Given the description of an element on the screen output the (x, y) to click on. 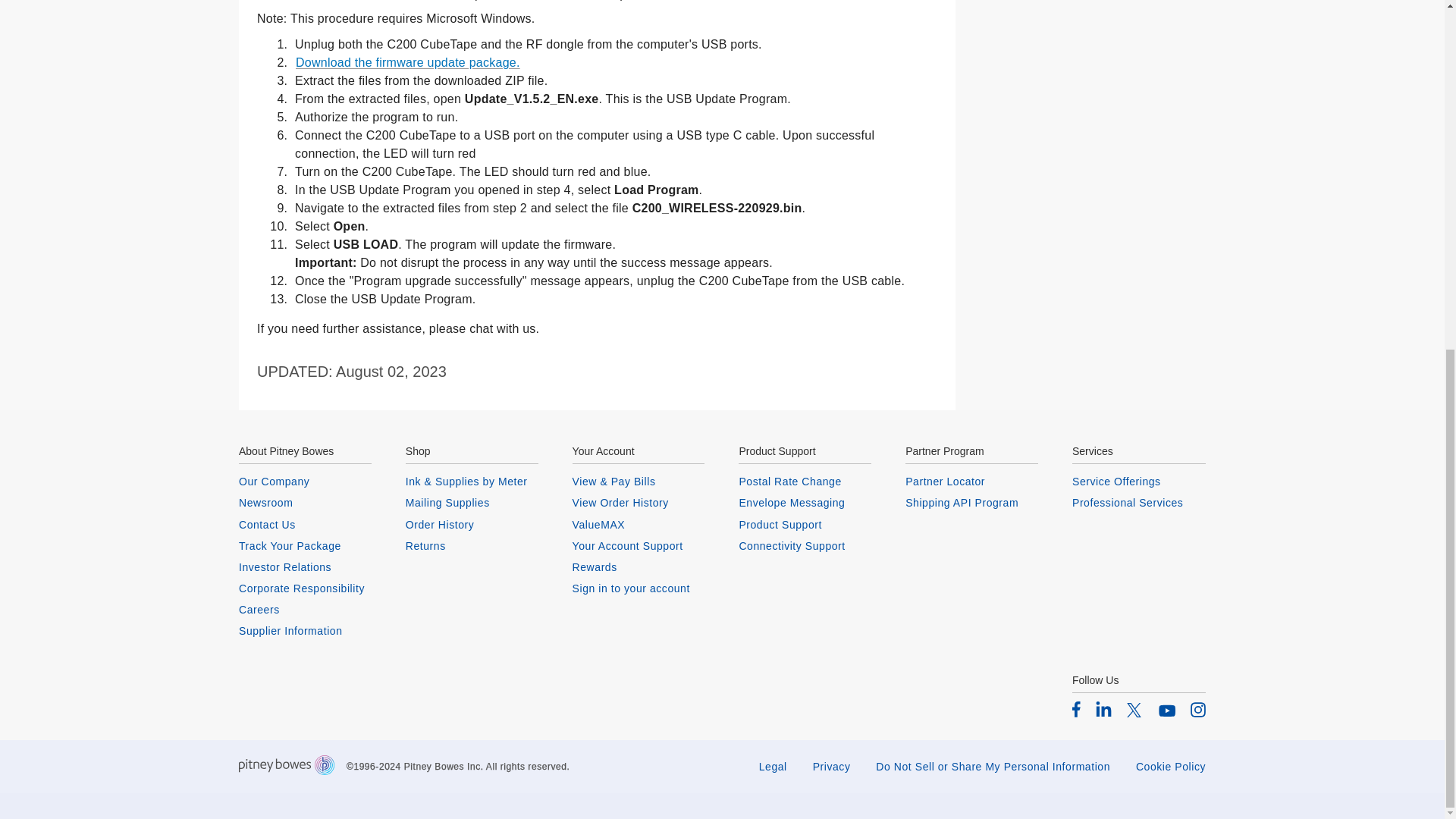
Our Company (304, 481)
Newsroom (304, 502)
Corporate Responsibility (304, 588)
Investor Relations (304, 567)
Contact Us (304, 524)
Track Your Package (304, 545)
